Given the description of an element on the screen output the (x, y) to click on. 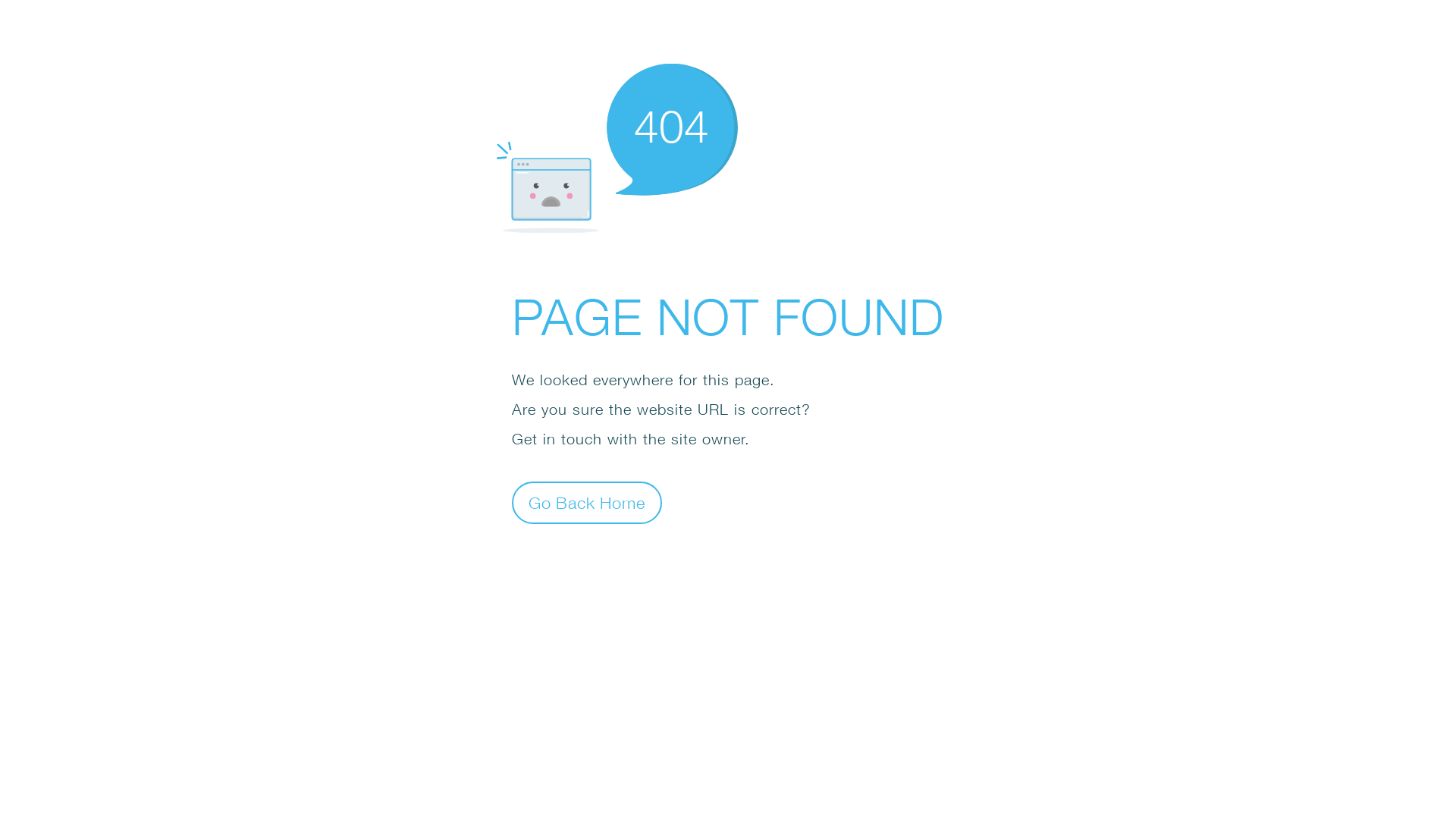
Go Back Home Element type: text (586, 502)
